Given the description of an element on the screen output the (x, y) to click on. 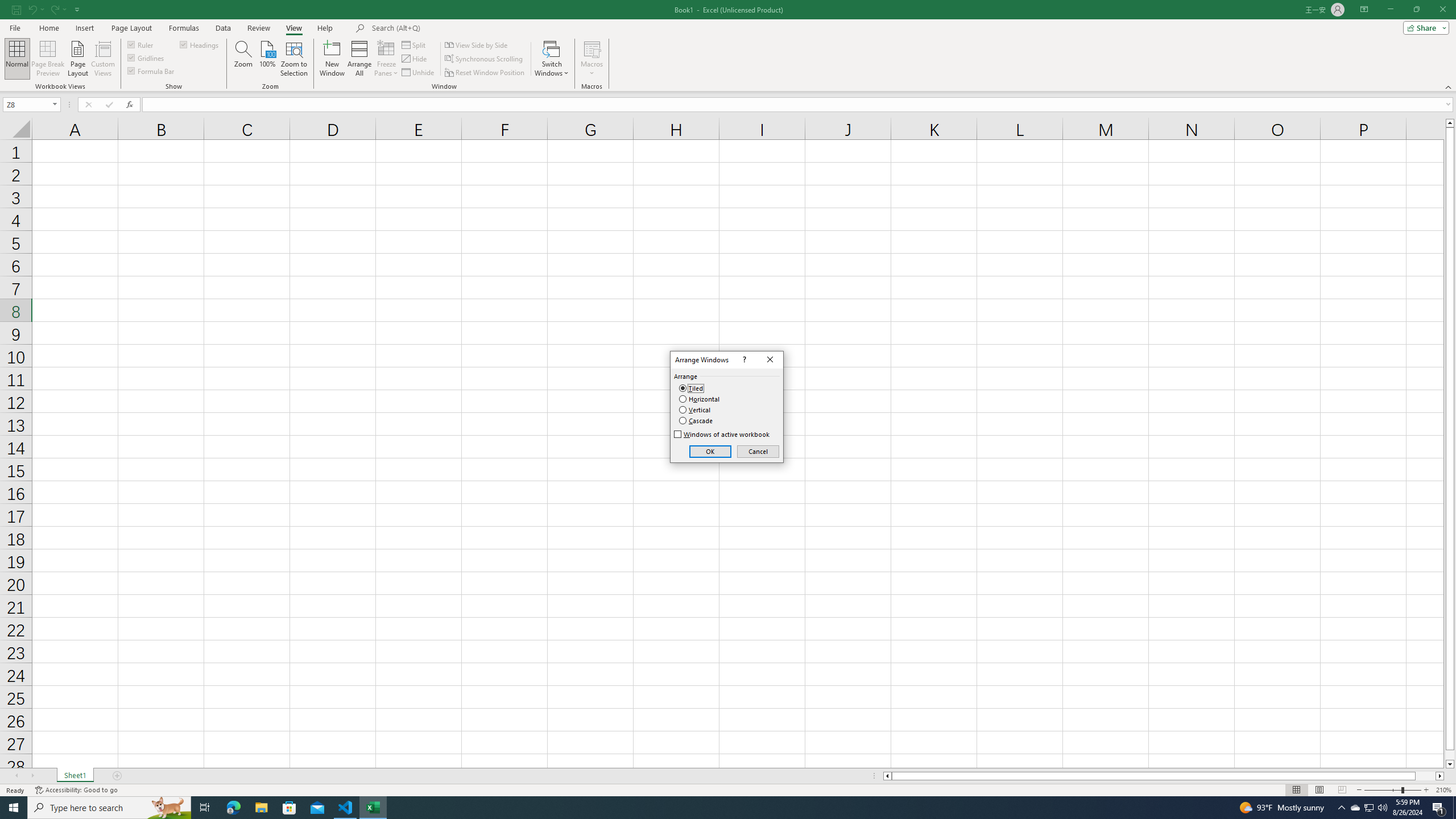
Visual Studio Code - 1 running window (345, 807)
Zoom to Selection (1355, 807)
File Explorer (293, 58)
Task View (261, 807)
Custom Views... (204, 807)
Arrange All (103, 58)
